Given the description of an element on the screen output the (x, y) to click on. 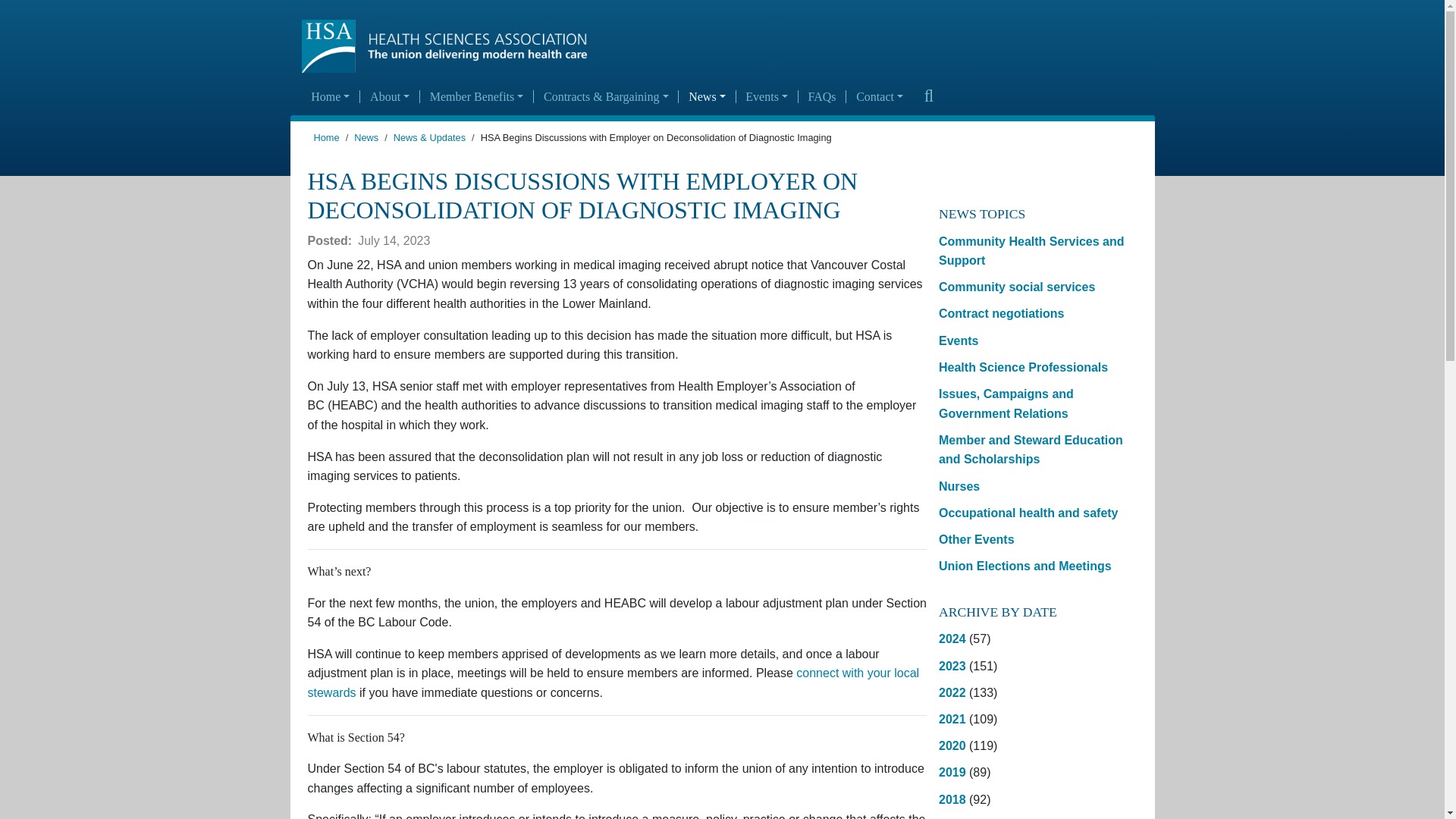
Member Benefits (476, 97)
Expand menu Events (766, 97)
Expand menu Member Benefits (476, 97)
Home (330, 97)
Home (449, 45)
Expand menu News (706, 97)
Expand menu About (389, 97)
News (706, 97)
Expand menu Home (330, 97)
About (389, 97)
Expand menu Contact (878, 97)
